Given the description of an element on the screen output the (x, y) to click on. 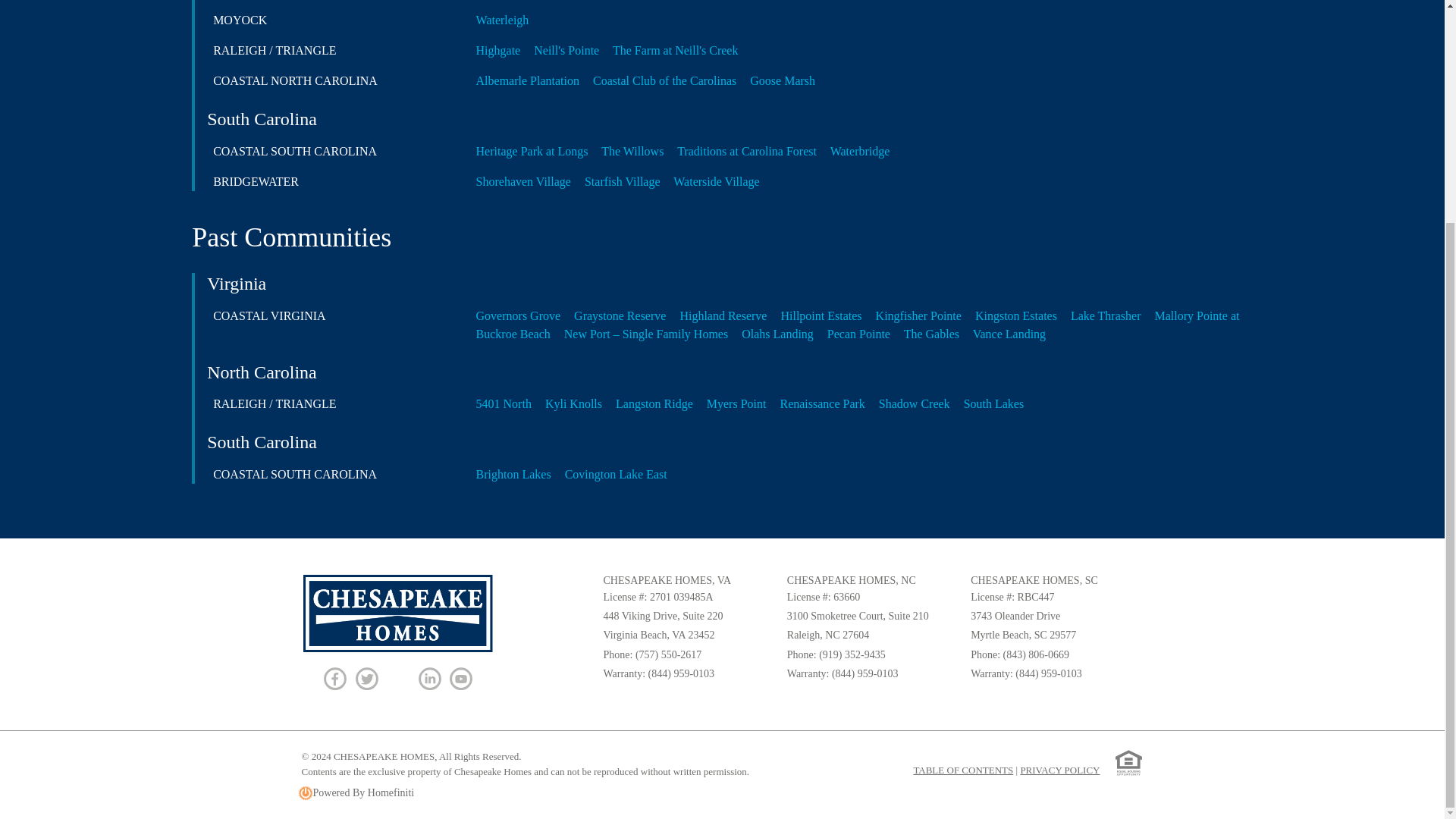
Chesapeake Homes on YouTube (460, 678)
Chesapeake Homes on Instagram (398, 678)
Chesapeake Homes on Facebook (334, 678)
Chesapeake Homes on LinkedIn (430, 678)
Chesapeake Homes on Twitter (366, 678)
